Given the description of an element on the screen output the (x, y) to click on. 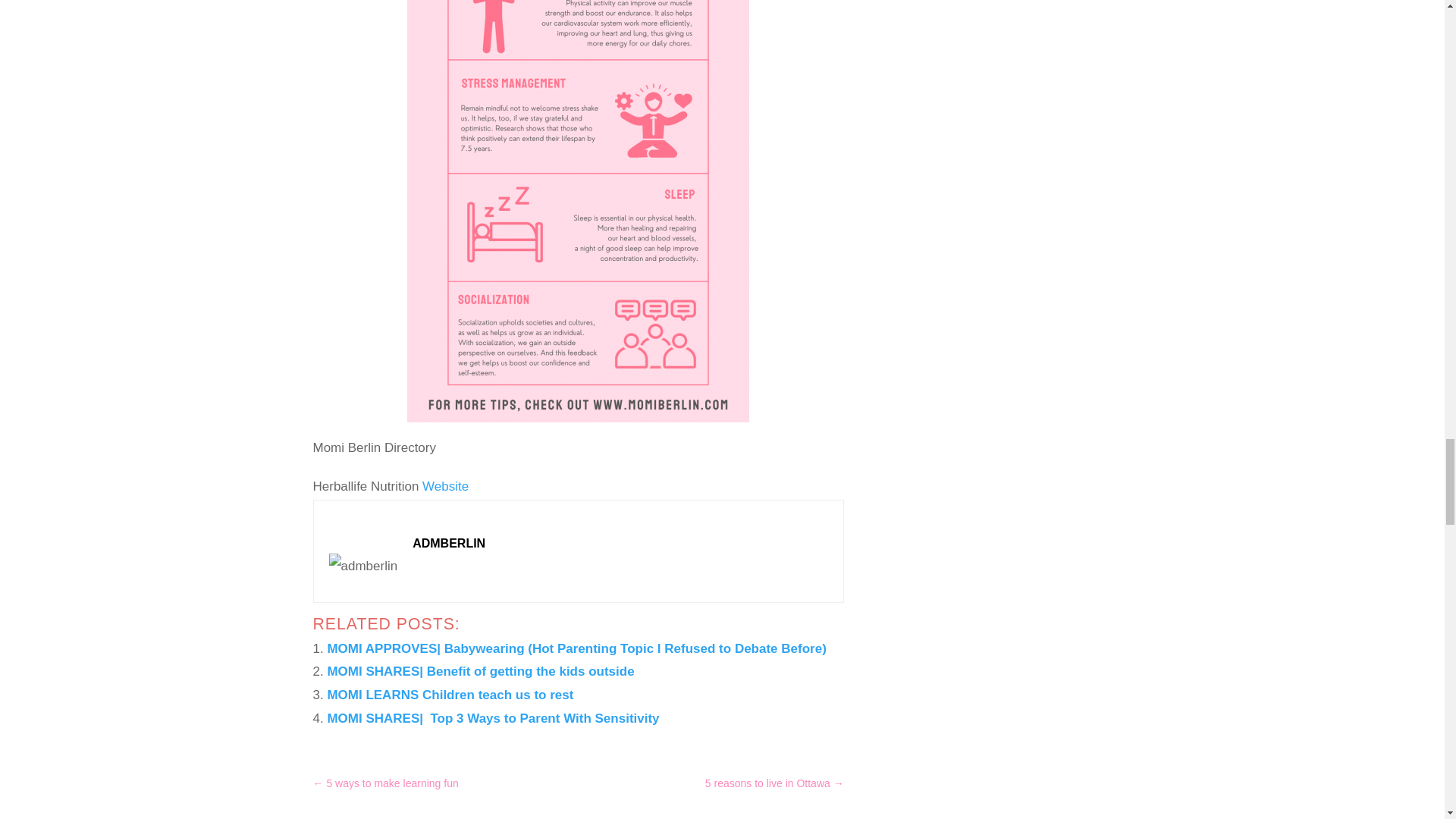
MOMI LEARNS Children teach us to rest (449, 694)
Website (445, 486)
ADMBERLIN (448, 542)
MOMI LEARNS Children teach us to rest (449, 694)
